Given the description of an element on the screen output the (x, y) to click on. 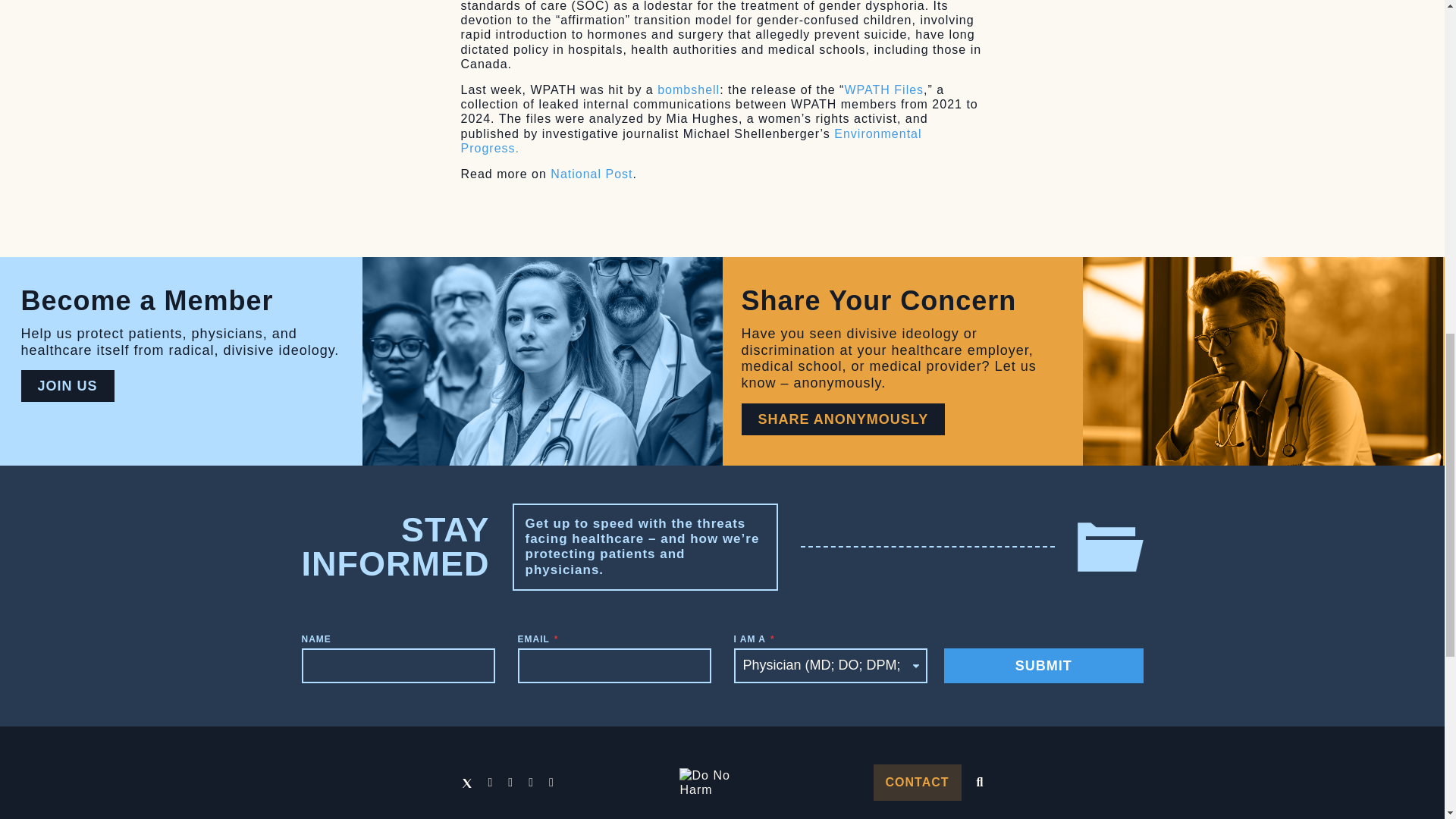
Submit (1042, 665)
